Given the description of an element on the screen output the (x, y) to click on. 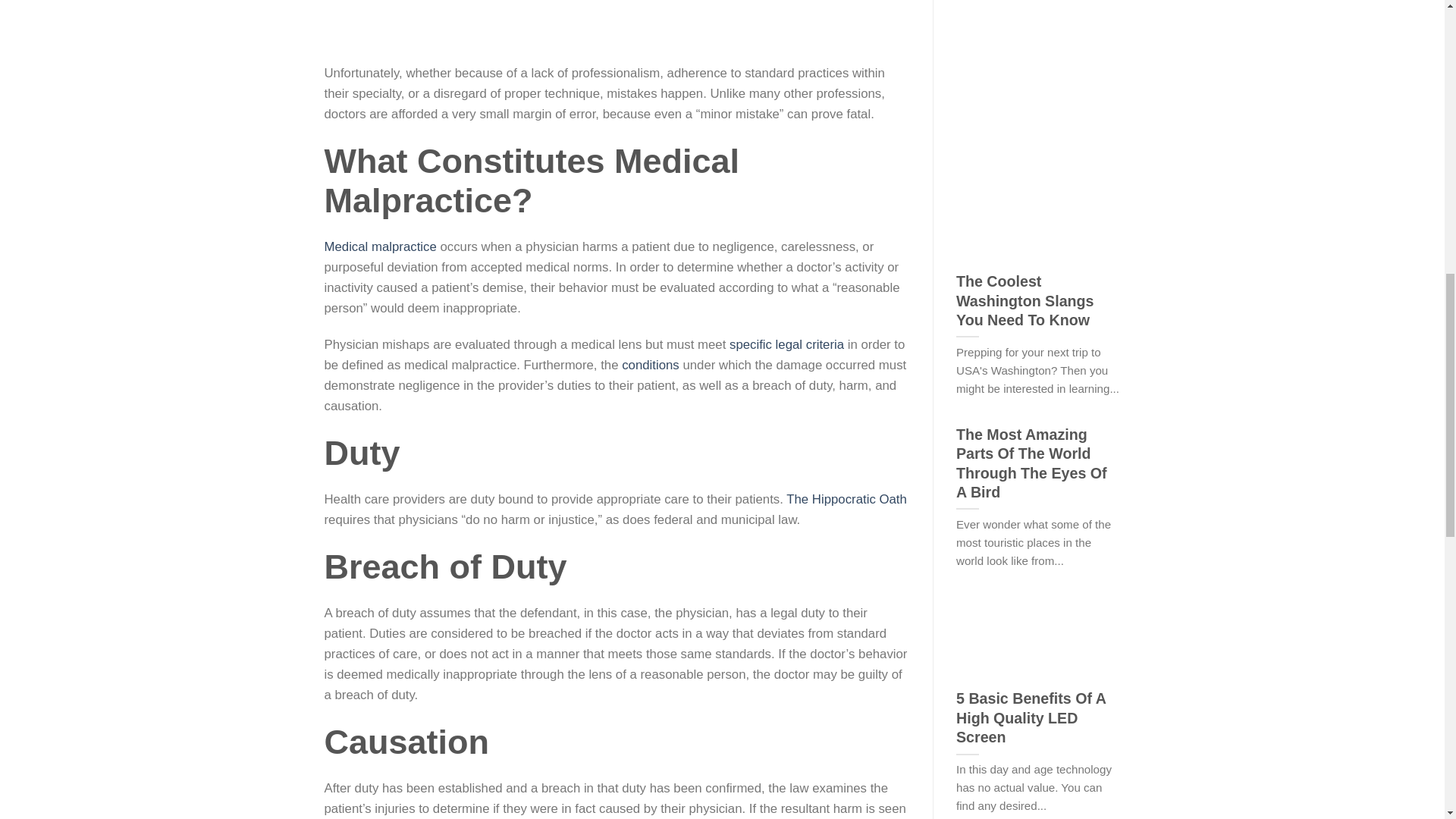
specific legal criteria (786, 344)
The Hippocratic Oath (846, 499)
conditions (650, 364)
Medical malpractice (380, 246)
Advertisement (1069, 72)
